Given the description of an element on the screen output the (x, y) to click on. 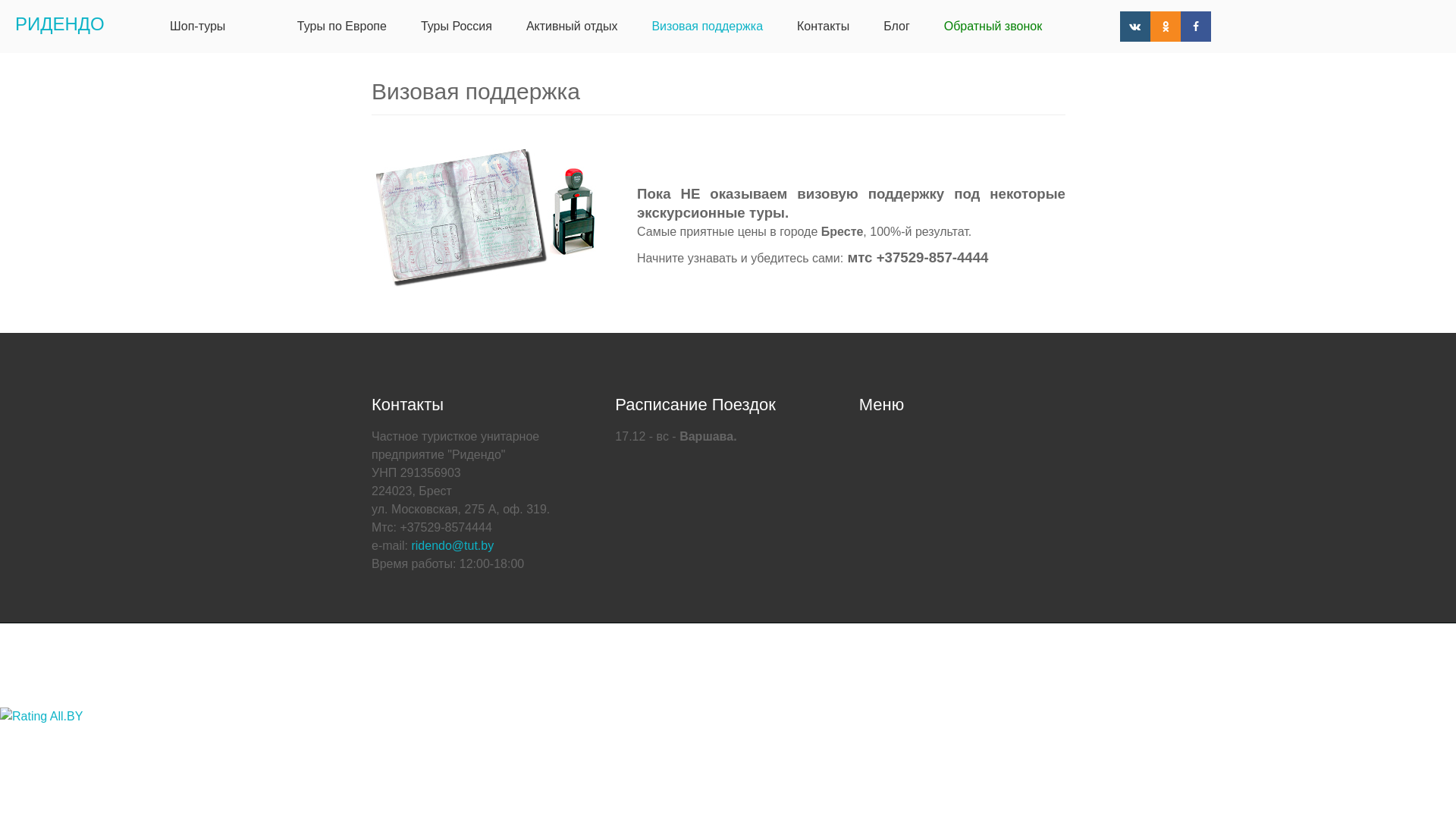
  Element type: text (260, 26)
ridendo@tut.by Element type: text (452, 545)
